Given the description of an element on the screen output the (x, y) to click on. 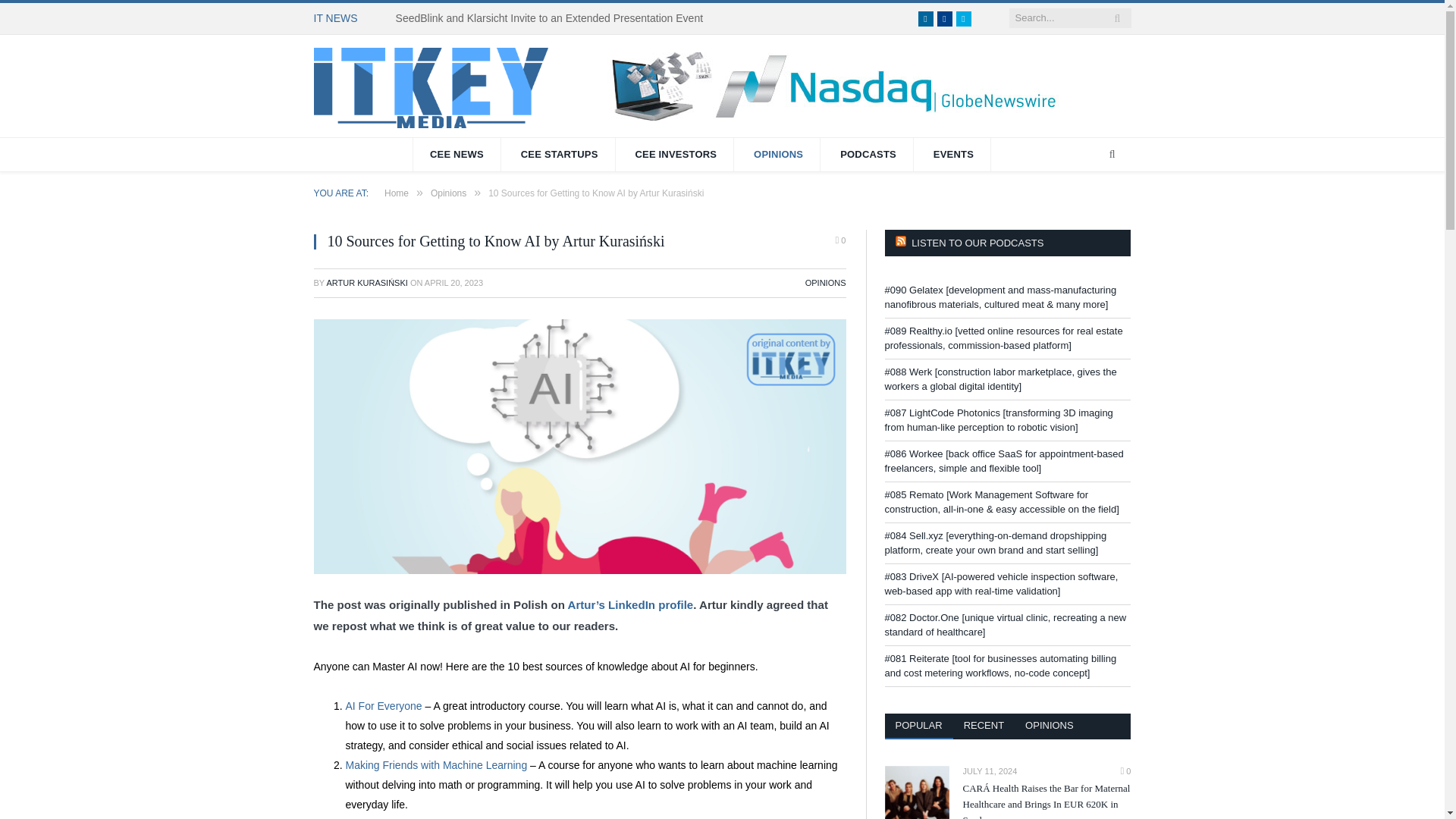
Facebook (944, 18)
Twitter (963, 18)
2023-04-20 (454, 282)
Home (396, 193)
OPINIONS (825, 282)
PODCASTS (869, 154)
CEE STARTUPS (559, 154)
Search (1112, 154)
EVENTS (954, 154)
Opinions (447, 193)
OPINIONS (778, 154)
CEE INVESTORS (675, 154)
ITKeyMedia (431, 85)
